Given the description of an element on the screen output the (x, y) to click on. 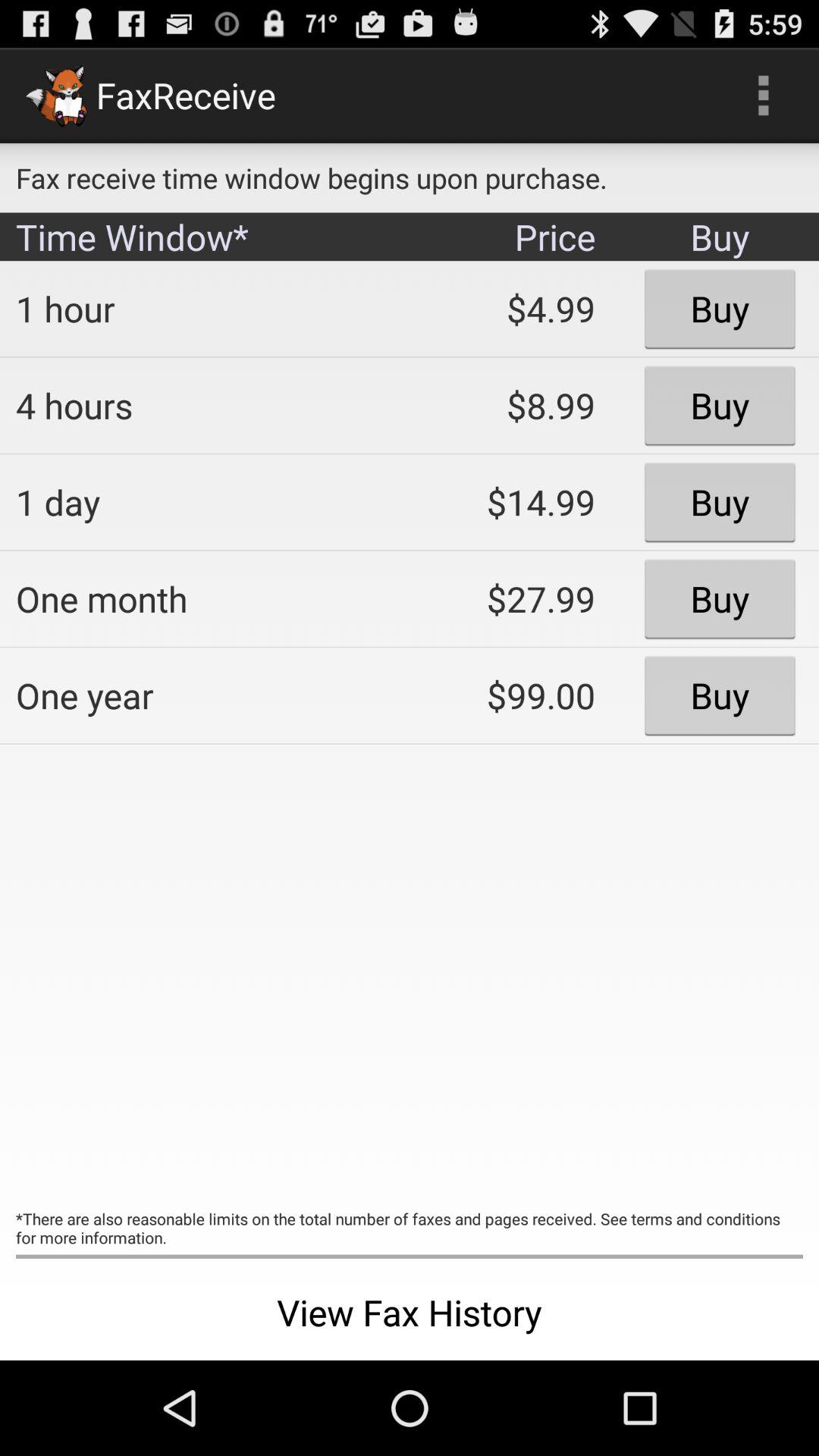
open one month (201, 598)
